Given the description of an element on the screen output the (x, y) to click on. 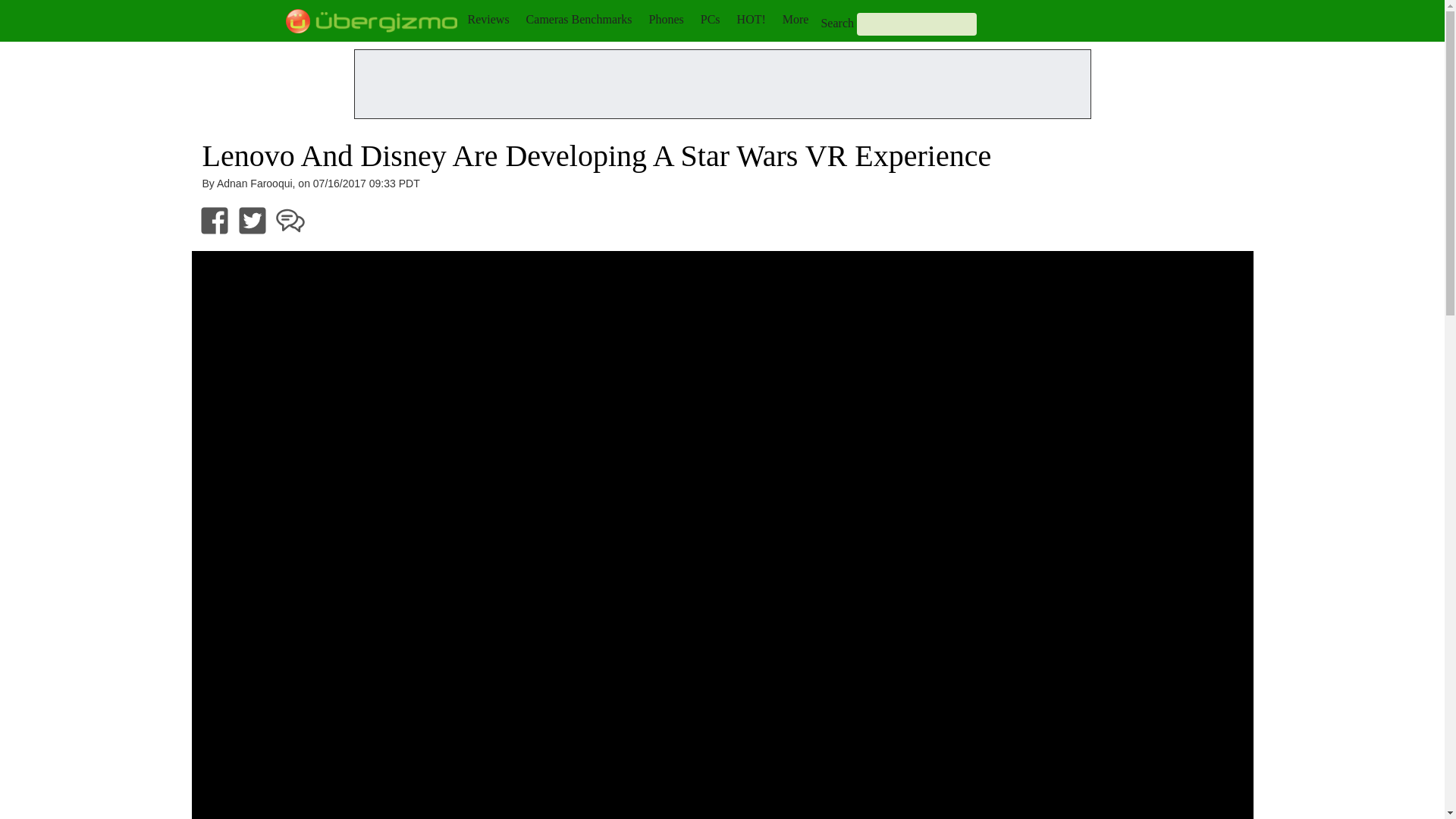
PCs (710, 19)
Cameras Benchmarks (578, 19)
Reviews (487, 19)
Phones (666, 19)
